Given the description of an element on the screen output the (x, y) to click on. 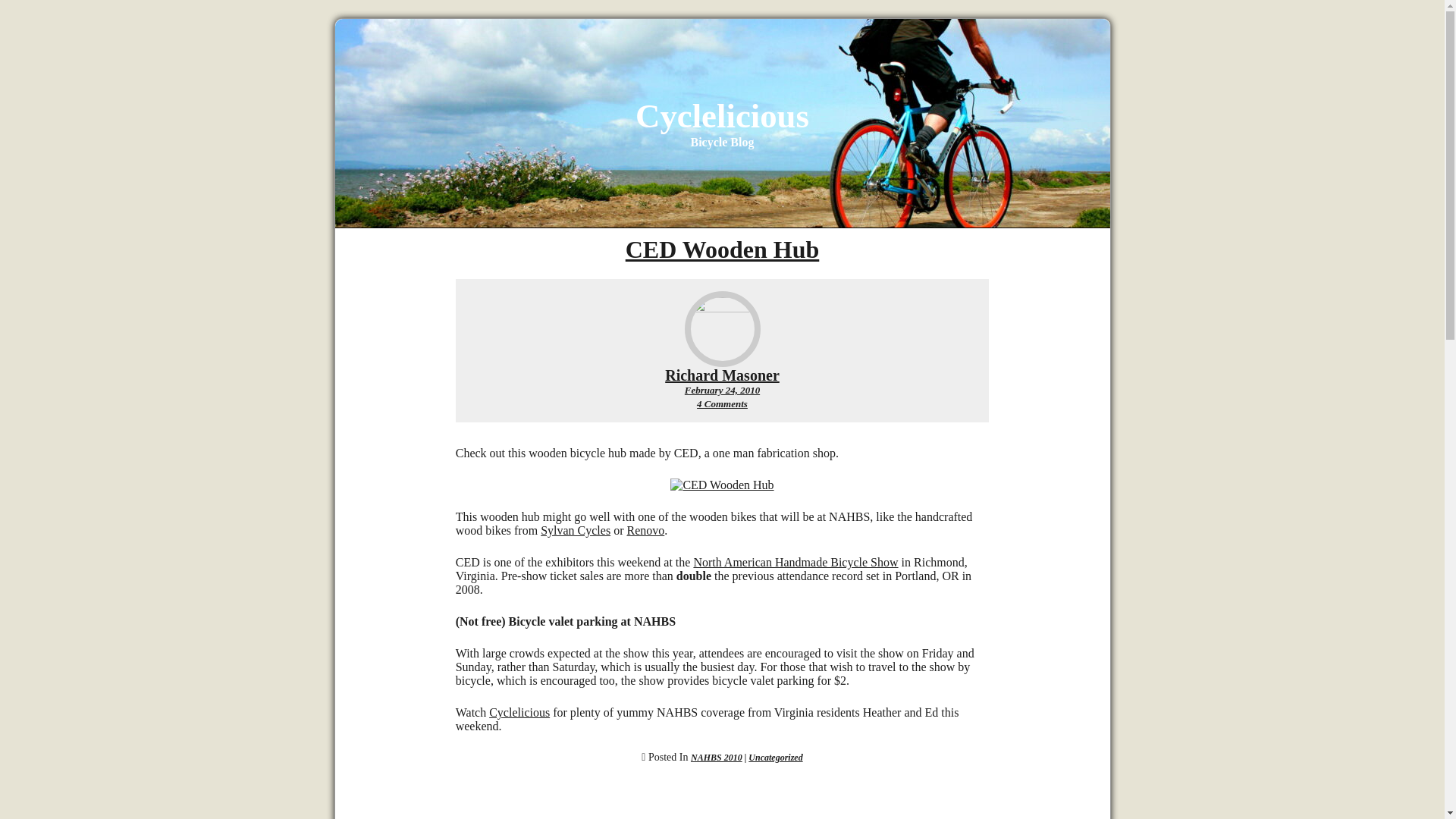
CED Wooden Hub (722, 248)
Cyclelicious (722, 403)
February 24, 2010 (519, 712)
NAHBS 2010 (722, 389)
Sylvan Cycles (716, 757)
Cyclelicious (575, 530)
CED Wooden Hub (721, 116)
View all posts by Richard Masoner (721, 485)
Uncategorized (721, 375)
Richard Masoner (775, 757)
Skip to content (721, 375)
Renovo (722, 389)
North American Handmade Bicycle Show (644, 530)
